Given the description of an element on the screen output the (x, y) to click on. 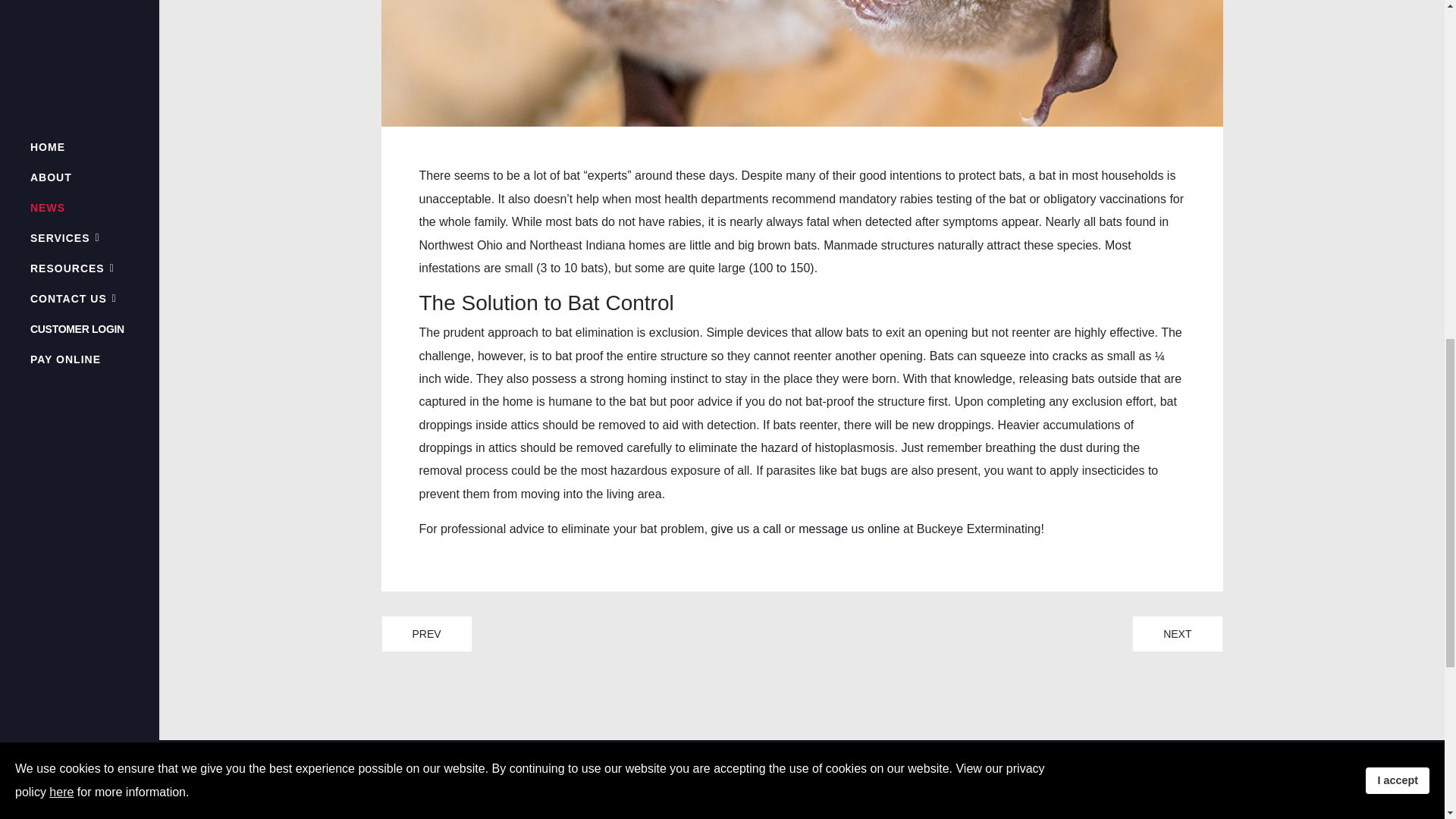
Bird Control Solutions (1177, 633)
message us online (848, 528)
Squirrel Control  (425, 633)
give us a call (746, 528)
PREV (425, 633)
800-523-1521 (690, 795)
419-453-3931 (671, 814)
NEXT (1177, 633)
